Given the description of an element on the screen output the (x, y) to click on. 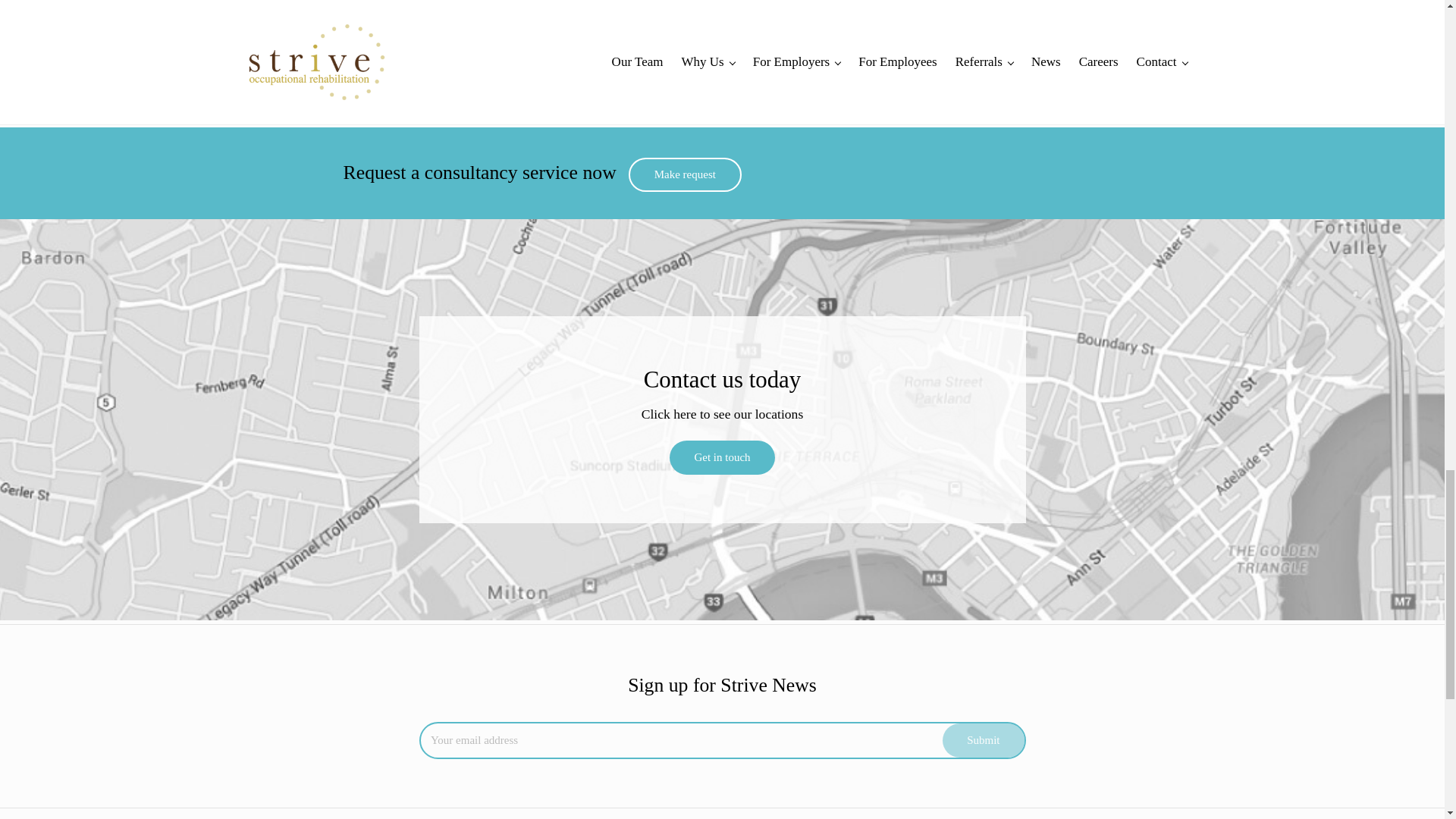
Submit (982, 740)
